Given the description of an element on the screen output the (x, y) to click on. 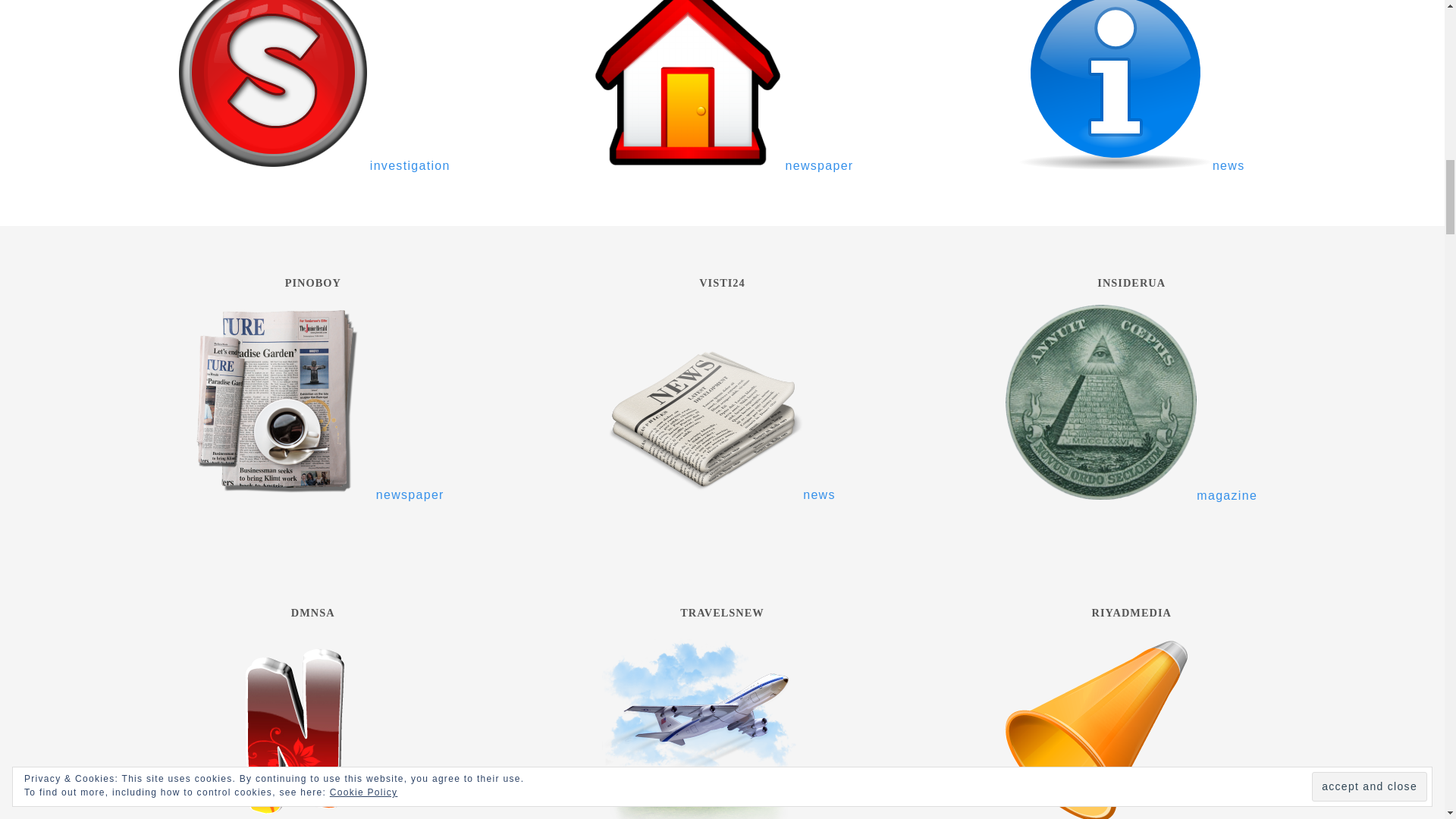
newspaper (722, 164)
news (721, 494)
magazine (1131, 495)
news (1130, 164)
newspaper (313, 494)
investigation (312, 164)
